Given the description of an element on the screen output the (x, y) to click on. 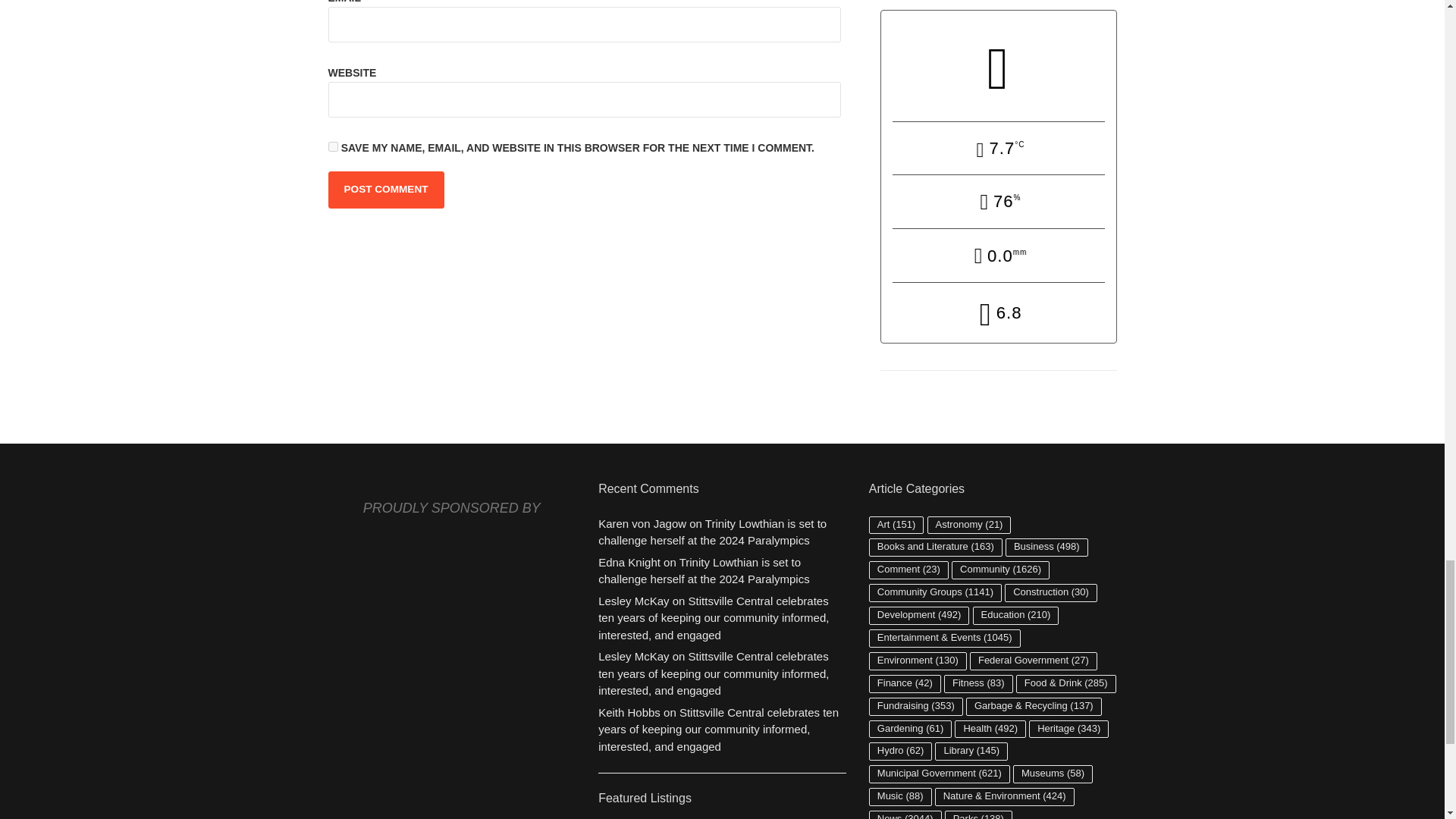
Temperature (998, 149)
yes (332, 146)
Relative humidity (998, 203)
Wind chill (998, 314)
Rainfall (998, 256)
Current weather conditions (998, 65)
Post Comment (385, 189)
